Given the description of an element on the screen output the (x, y) to click on. 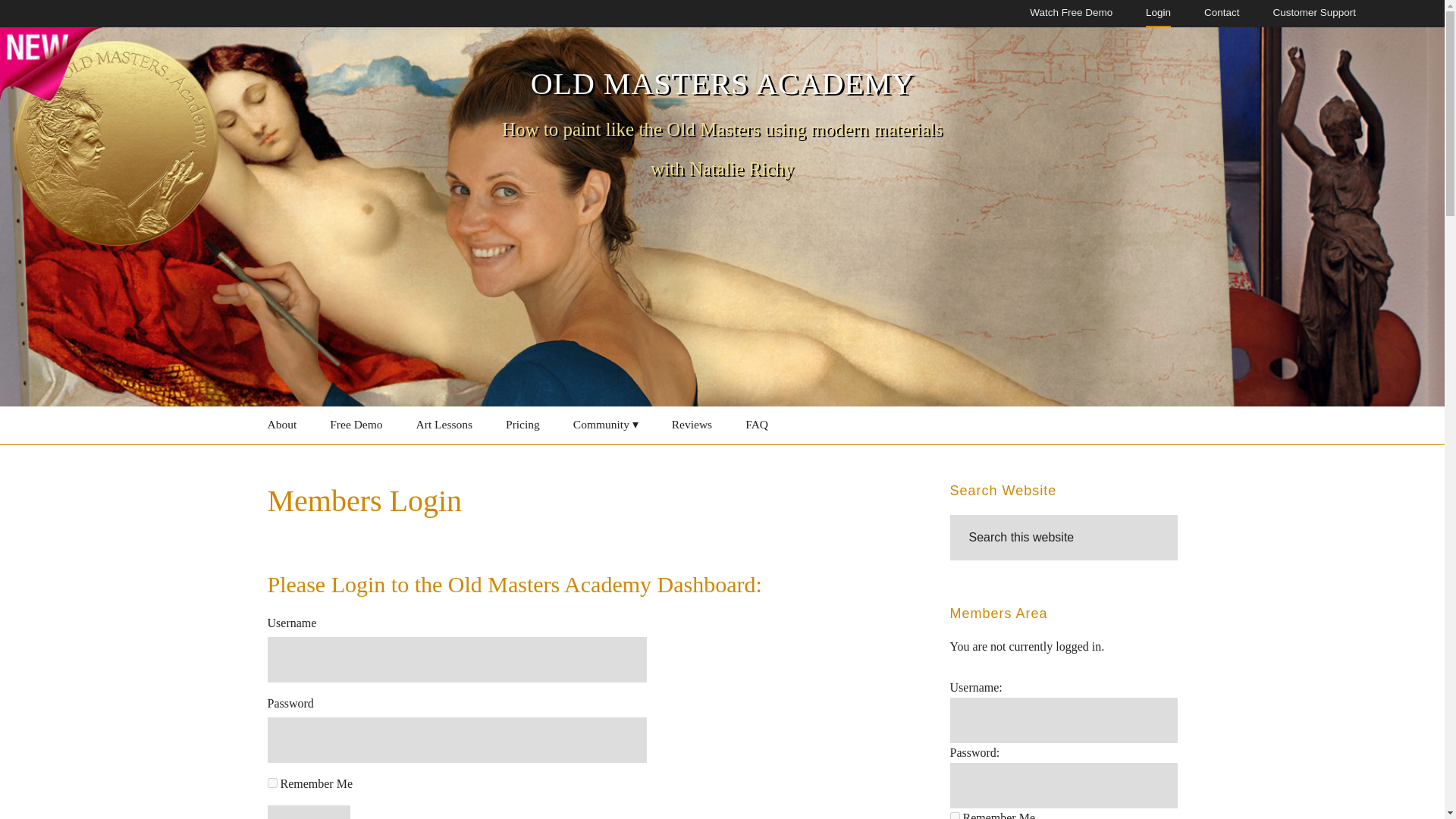
OLD MASTERS ACADEMY (722, 83)
Reviews (691, 425)
forever (954, 815)
Free Demo (355, 425)
Contact (1222, 13)
Watch Free Demo (1070, 13)
Login (307, 812)
